Given the description of an element on the screen output the (x, y) to click on. 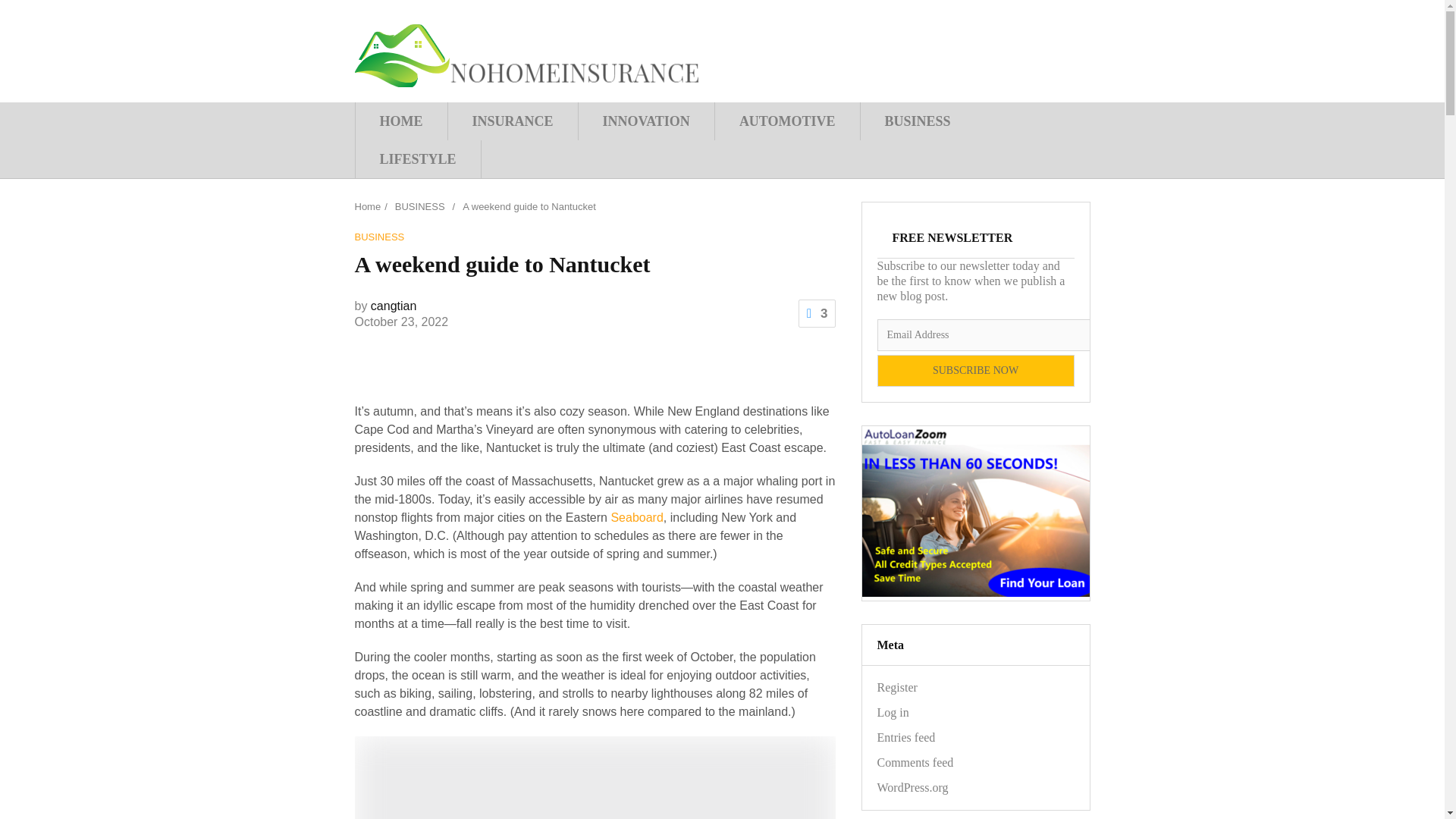
Home (368, 206)
BUSINESS (917, 121)
View all posts in BUSINESS (379, 236)
HOME (400, 121)
INNOVATION (646, 121)
BUSINESS (419, 206)
SUBSCRIBE NOW (975, 370)
cangtian (393, 305)
AUTOMOTIVE (787, 121)
LIFESTYLE (418, 159)
